Given the description of an element on the screen output the (x, y) to click on. 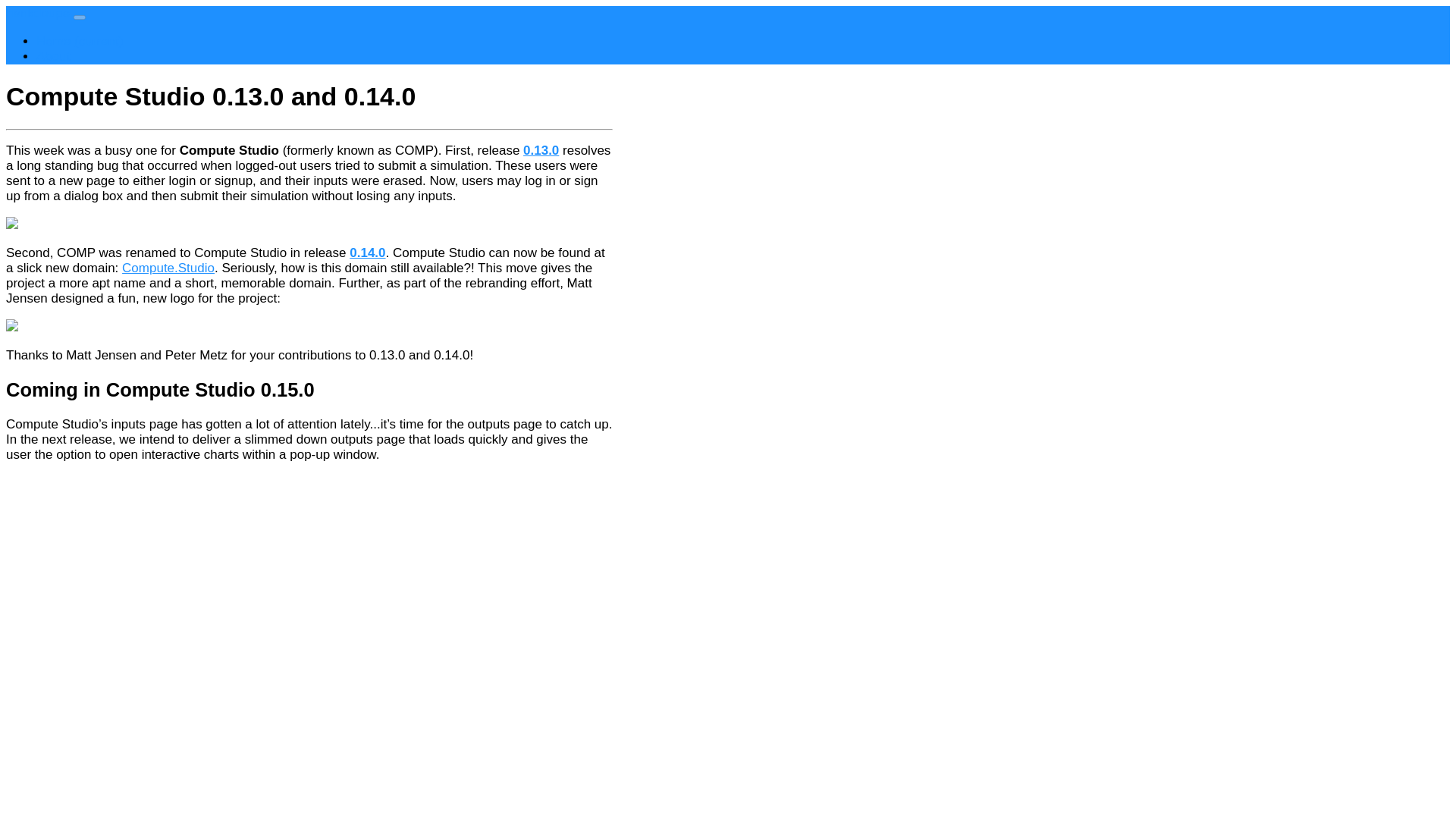
0.13.0 (540, 150)
About (52, 56)
Compute.Studio (168, 268)
hankdoupe (37, 12)
0.14.0 (367, 252)
